Given the description of an element on the screen output the (x, y) to click on. 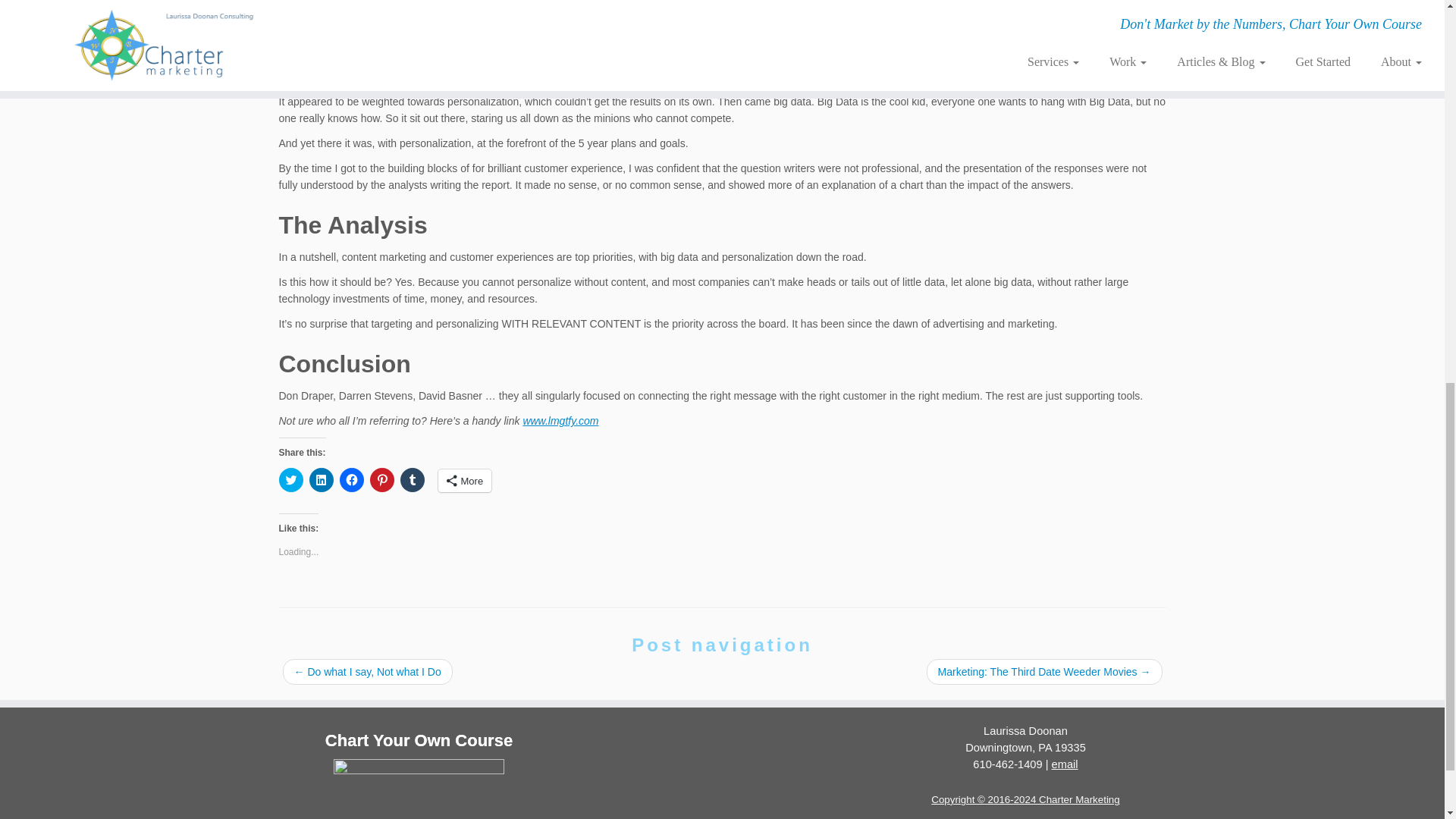
Click to share on Facebook (351, 479)
Click to share on Tumblr (412, 479)
Click to share on LinkedIn (320, 479)
Click to share on Pinterest (381, 479)
Click to share on Twitter (290, 479)
